Given the description of an element on the screen output the (x, y) to click on. 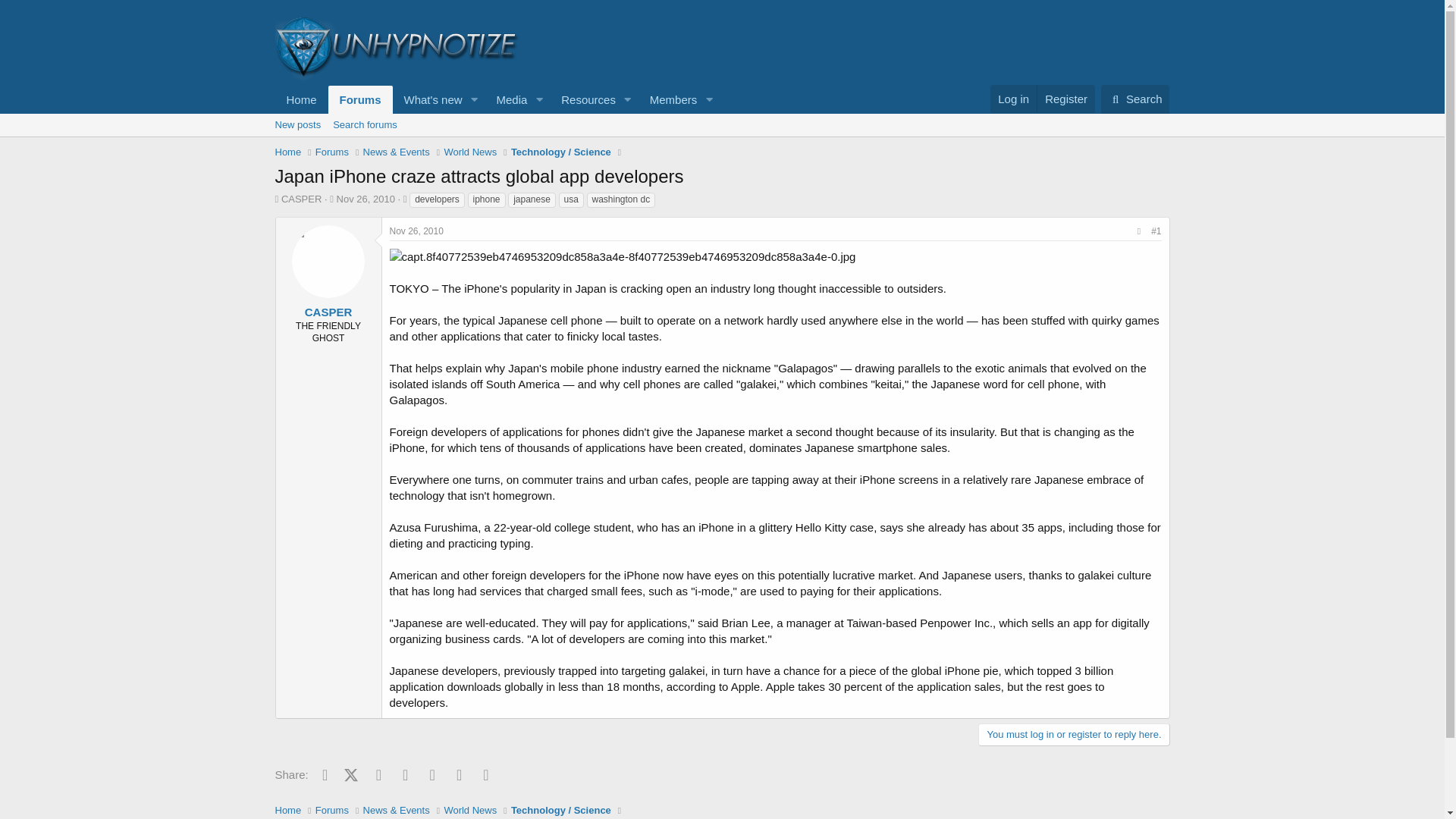
Register (1065, 99)
Resources (720, 124)
Nov 26, 2010 at 8:18 PM (583, 99)
What's new (365, 198)
Nov 26, 2010 at 8:18 PM (428, 99)
Search (417, 231)
Forums (1135, 99)
Members (496, 99)
